Given the description of an element on the screen output the (x, y) to click on. 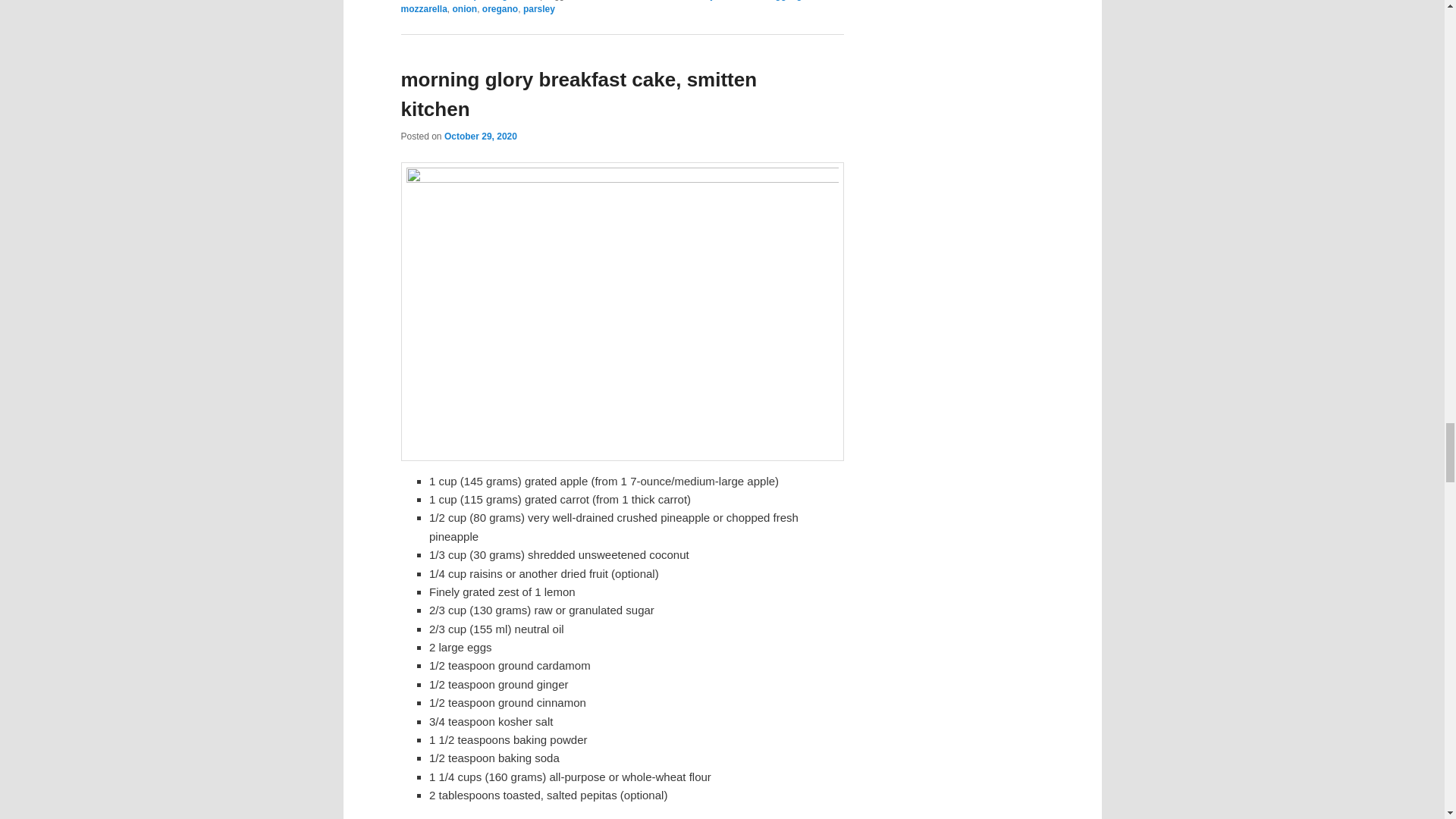
9:44 pm (480, 136)
